Given the description of an element on the screen output the (x, y) to click on. 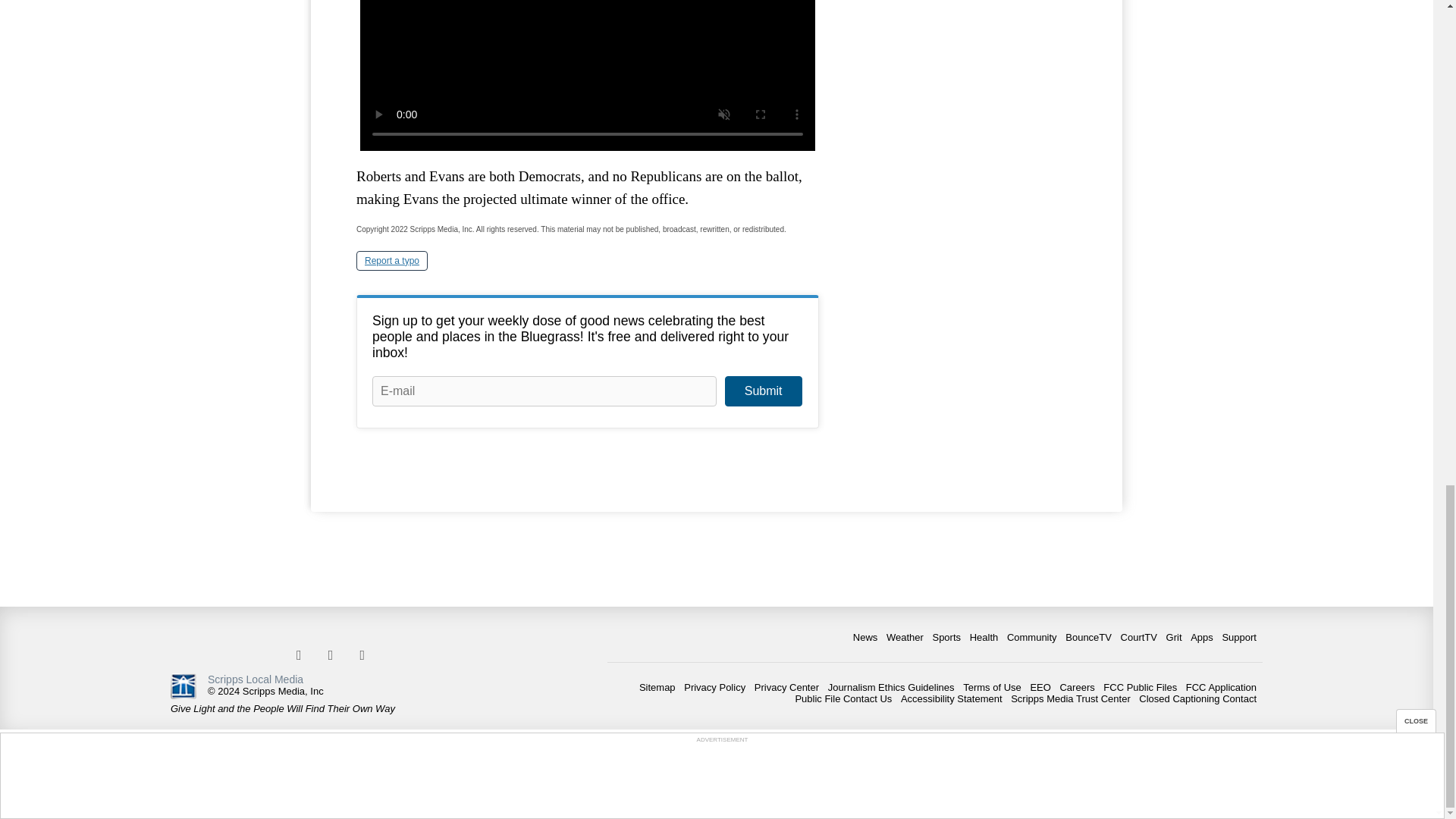
Submit (763, 390)
